Given the description of an element on the screen output the (x, y) to click on. 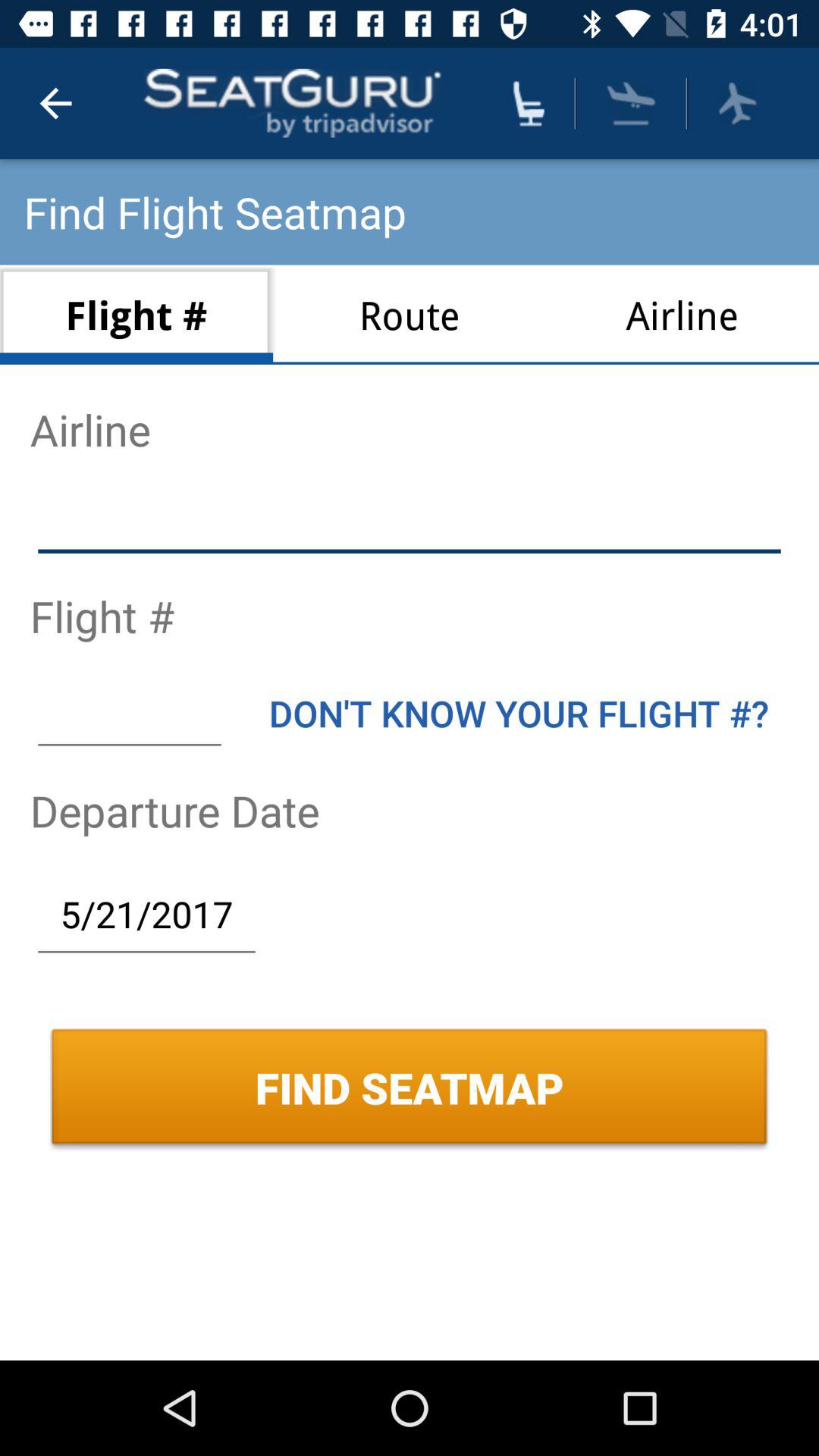
blank (409, 522)
